Given the description of an element on the screen output the (x, y) to click on. 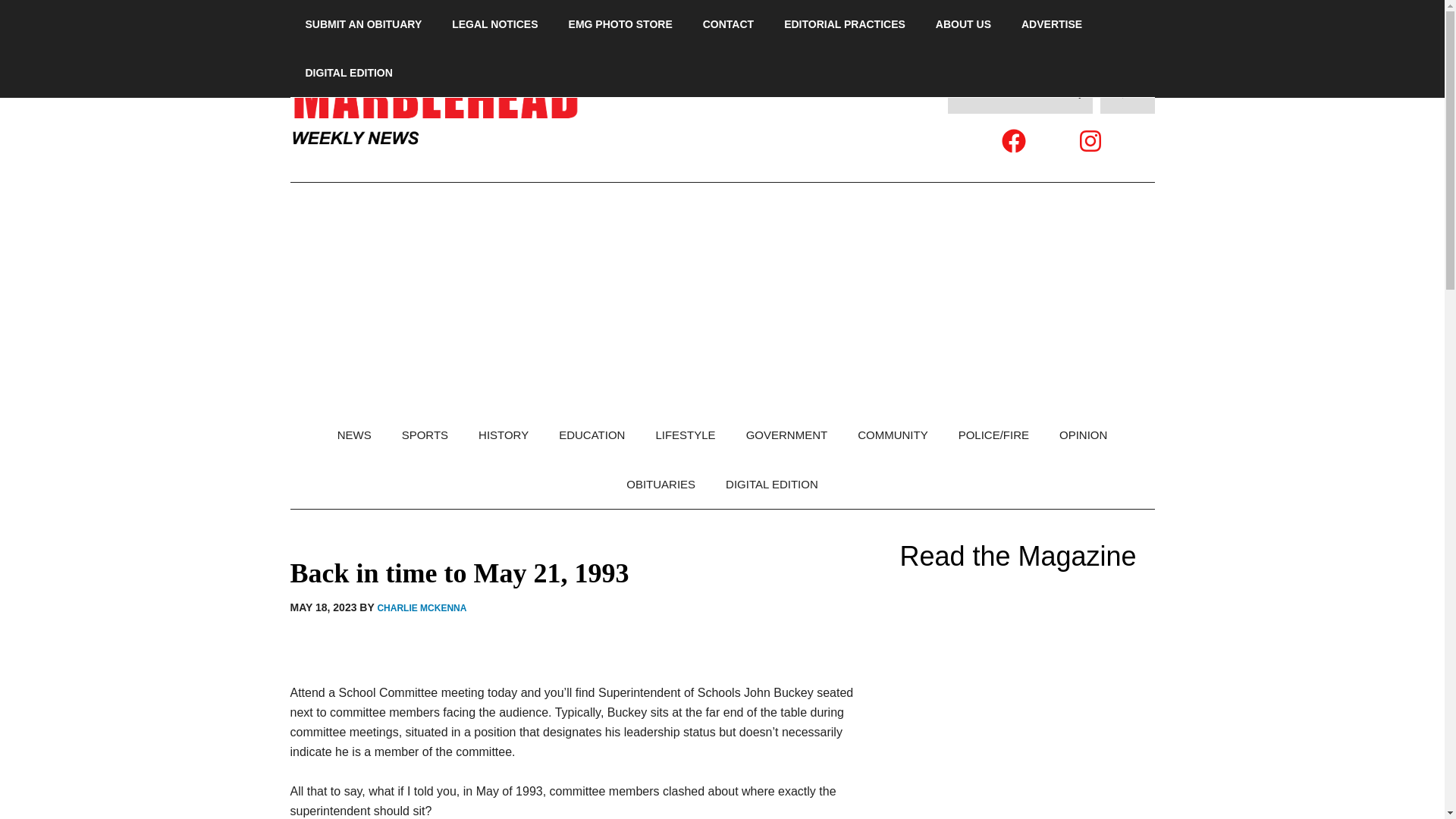
COMMUNITY (893, 434)
LEGAL NOTICES (494, 24)
ADVERTISE (1051, 24)
SUBMIT AN OBITUARY (362, 24)
SPORTS (425, 434)
EDUCATION (591, 434)
GOVERNMENT (786, 434)
OBITUARIES (660, 483)
CONTACT (727, 24)
